Given the description of an element on the screen output the (x, y) to click on. 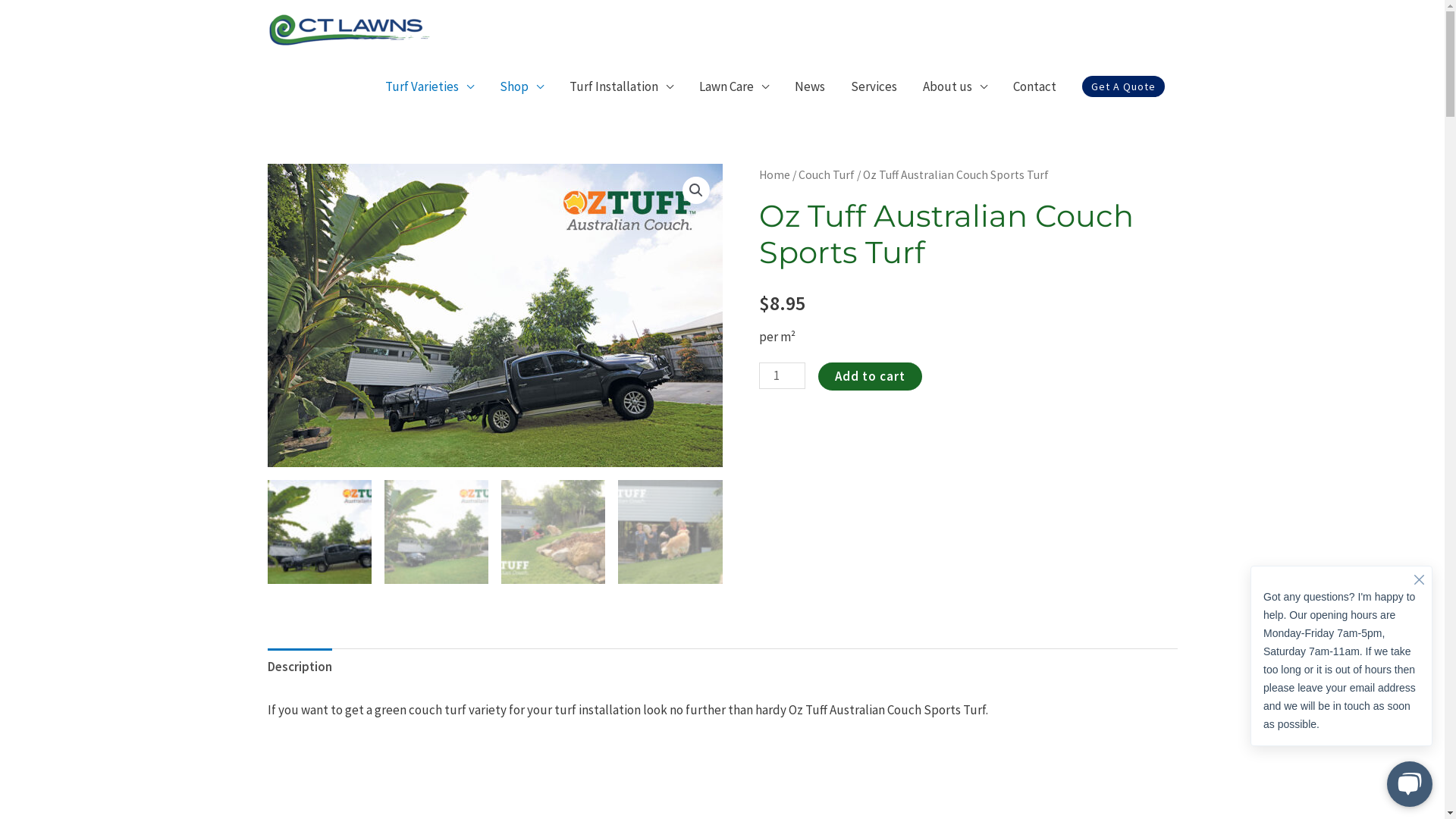
Get A Quote Element type: text (1122, 86)
Turf Installation Element type: text (621, 86)
Turf Varieties Element type: text (428, 86)
News Element type: text (809, 86)
Home Element type: text (773, 174)
Oz-Tuff-Sports-Turf-1-w-CT Lawns Turf Element type: hover (493, 315)
Shop Element type: text (521, 86)
Couch Turf Element type: text (825, 174)
Services Element type: text (873, 86)
Description Element type: text (298, 666)
About us Element type: text (955, 86)
Contact Element type: text (1033, 86)
Lawn Care Element type: text (733, 86)
Add to cart Element type: text (870, 376)
